Given the description of an element on the screen output the (x, y) to click on. 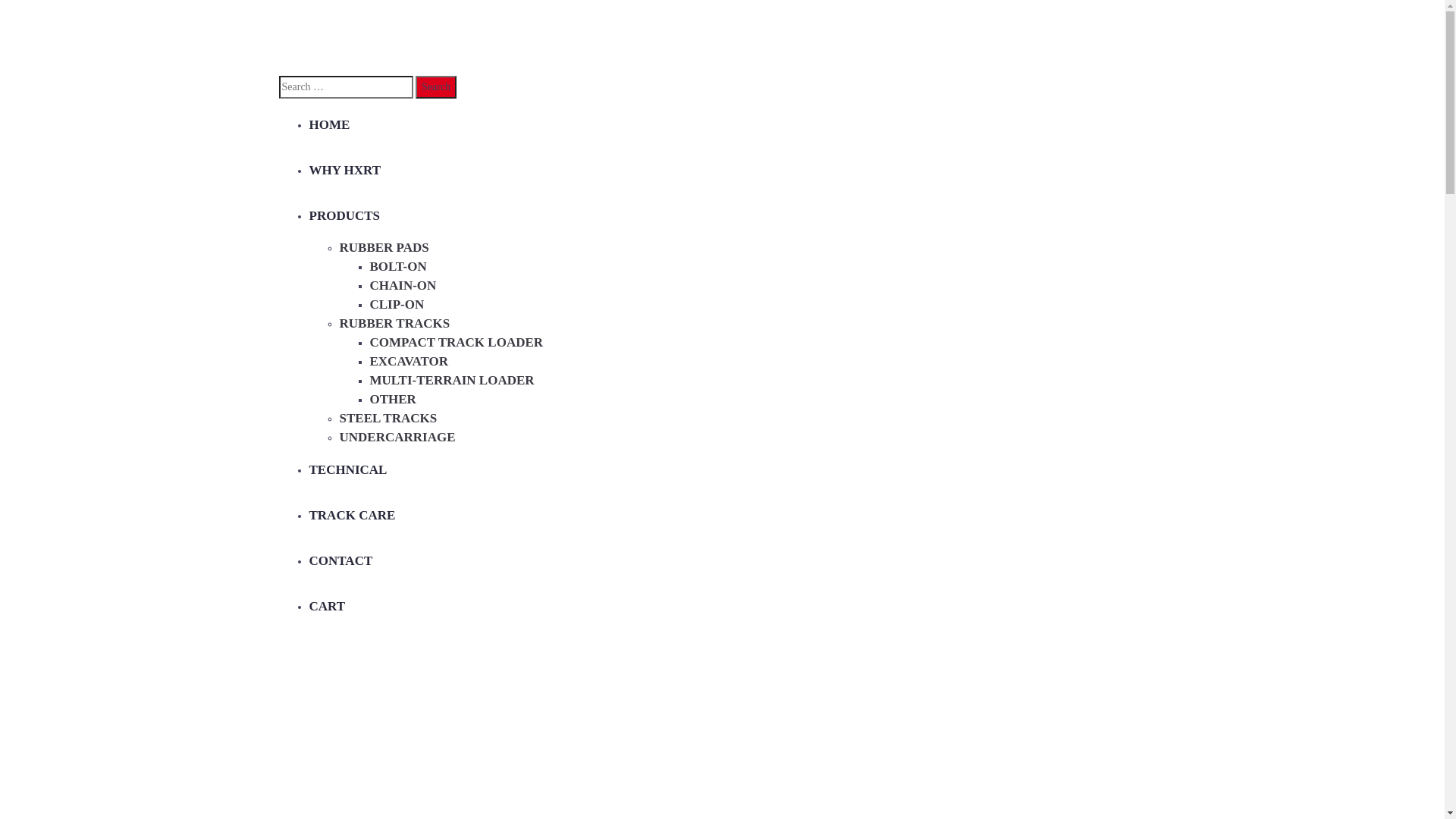
CART Element type: text (327, 606)
MULTI-TERRAIN LOADER Element type: text (452, 380)
RUBBER PADS Element type: text (384, 247)
UNDERCARRIAGE Element type: text (397, 436)
BOLT-ON Element type: text (398, 266)
EXCAVATOR Element type: text (409, 361)
CHAIN-ON Element type: text (403, 285)
COMPACT TRACK LOADER Element type: text (456, 342)
TECHNICAL Element type: text (348, 469)
TRACK CARE Element type: text (352, 515)
OTHER Element type: text (393, 399)
STEEL TRACKS Element type: text (388, 418)
CONTACT Element type: text (341, 560)
WHY HXRT Element type: text (345, 170)
Search Element type: text (435, 86)
HXRT Element type: hover (392, 36)
PRODUCTS Element type: text (344, 215)
RUBBER TRACKS Element type: text (394, 323)
HOME Element type: text (329, 124)
CLIP-ON Element type: text (397, 304)
